Given the description of an element on the screen output the (x, y) to click on. 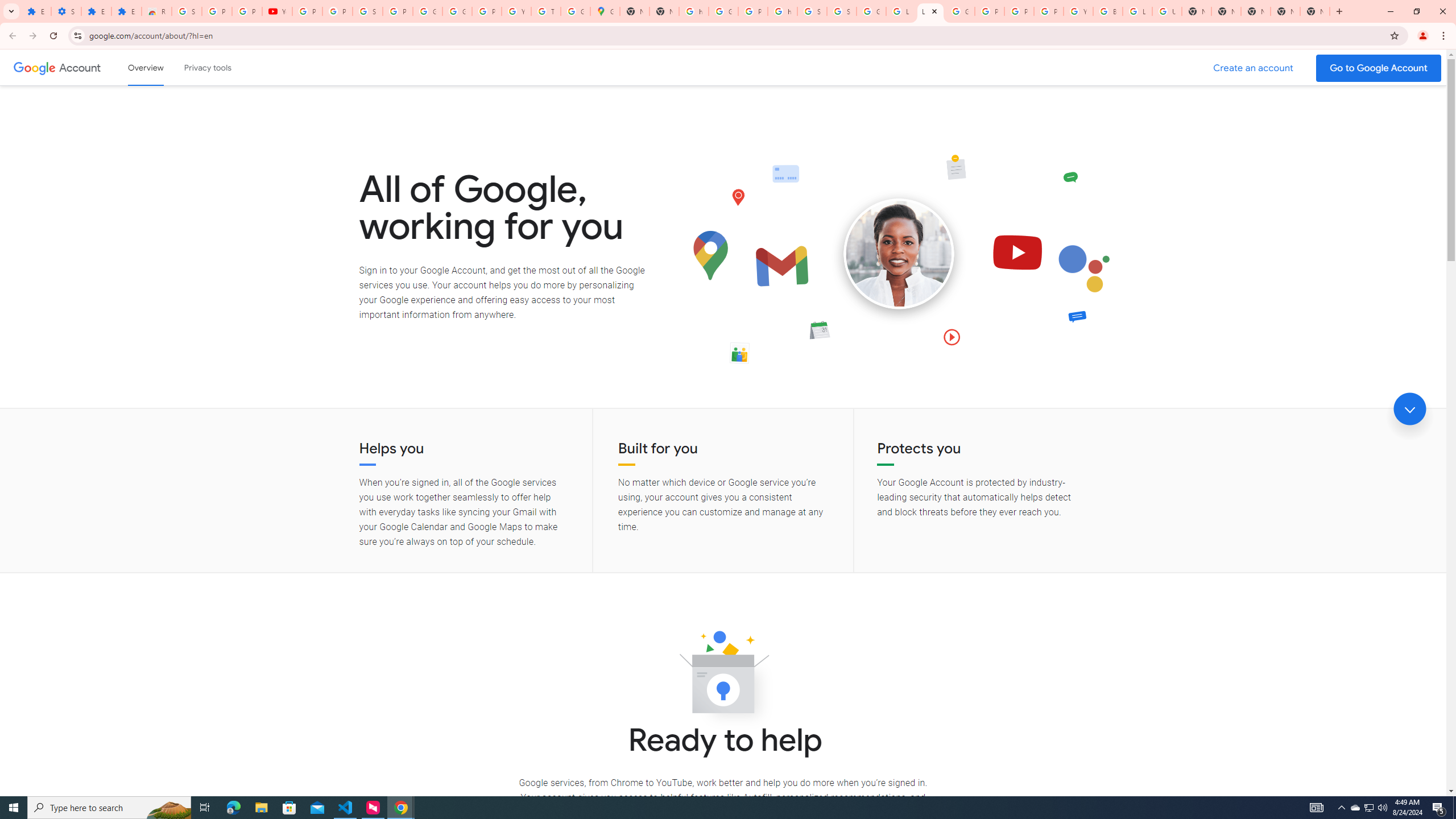
Sign in - Google Accounts (811, 11)
Google Account overview (145, 67)
Privacy Help Center - Policies Help (989, 11)
Create a Google Account (1253, 67)
Extensions (126, 11)
https://scholar.google.com/ (693, 11)
